Given the description of an element on the screen output the (x, y) to click on. 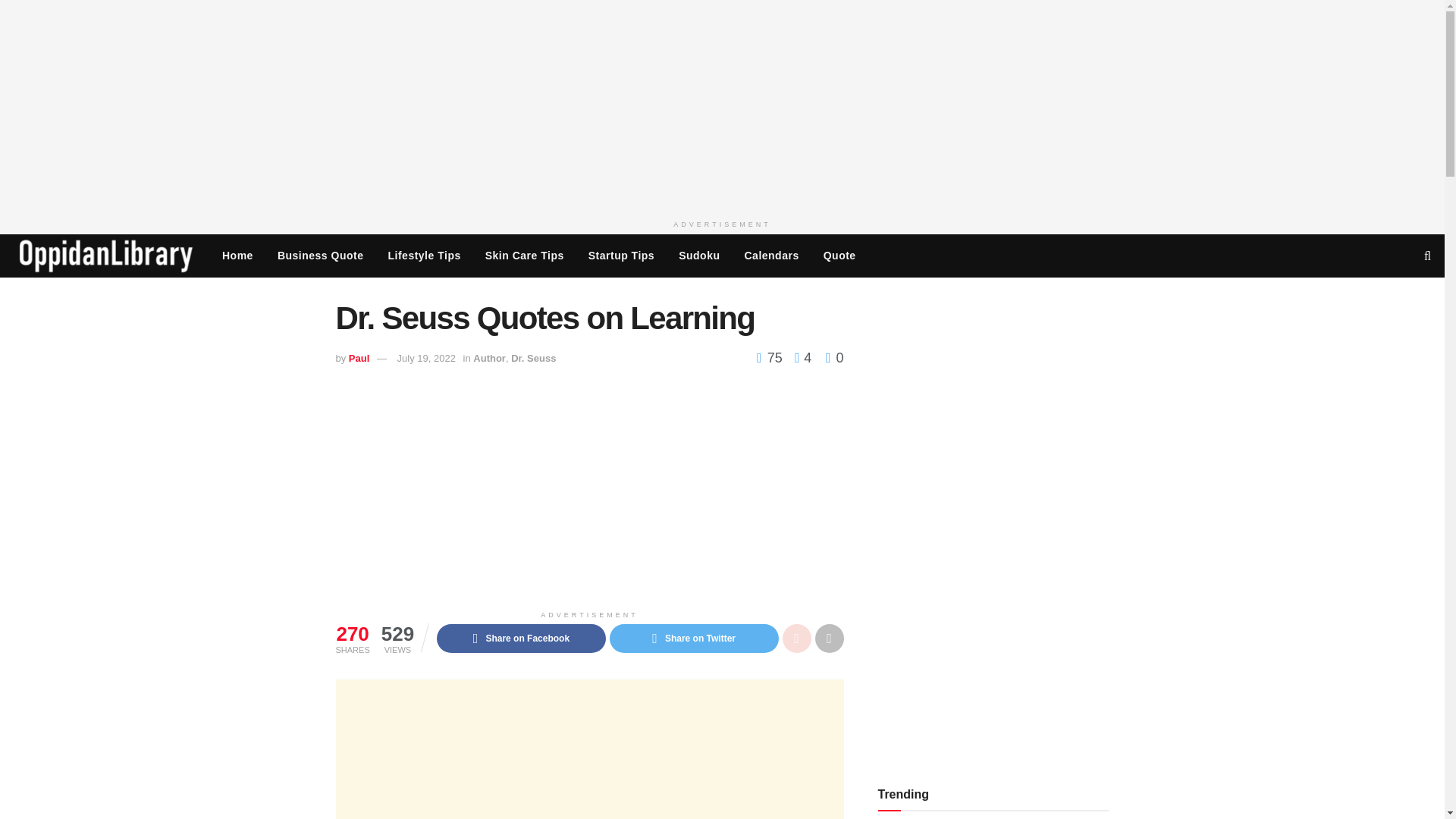
4 (799, 357)
Share on Twitter (694, 638)
Advertisement (588, 749)
July 19, 2022 (426, 357)
Dr. Seuss (533, 357)
Business Quote (319, 254)
Calendars (771, 254)
Paul (359, 357)
75 (771, 357)
Share on Facebook (520, 638)
Quote (838, 254)
Lifestyle Tips (424, 254)
Sudoku (699, 254)
Skin Care Tips (524, 254)
